Given the description of an element on the screen output the (x, y) to click on. 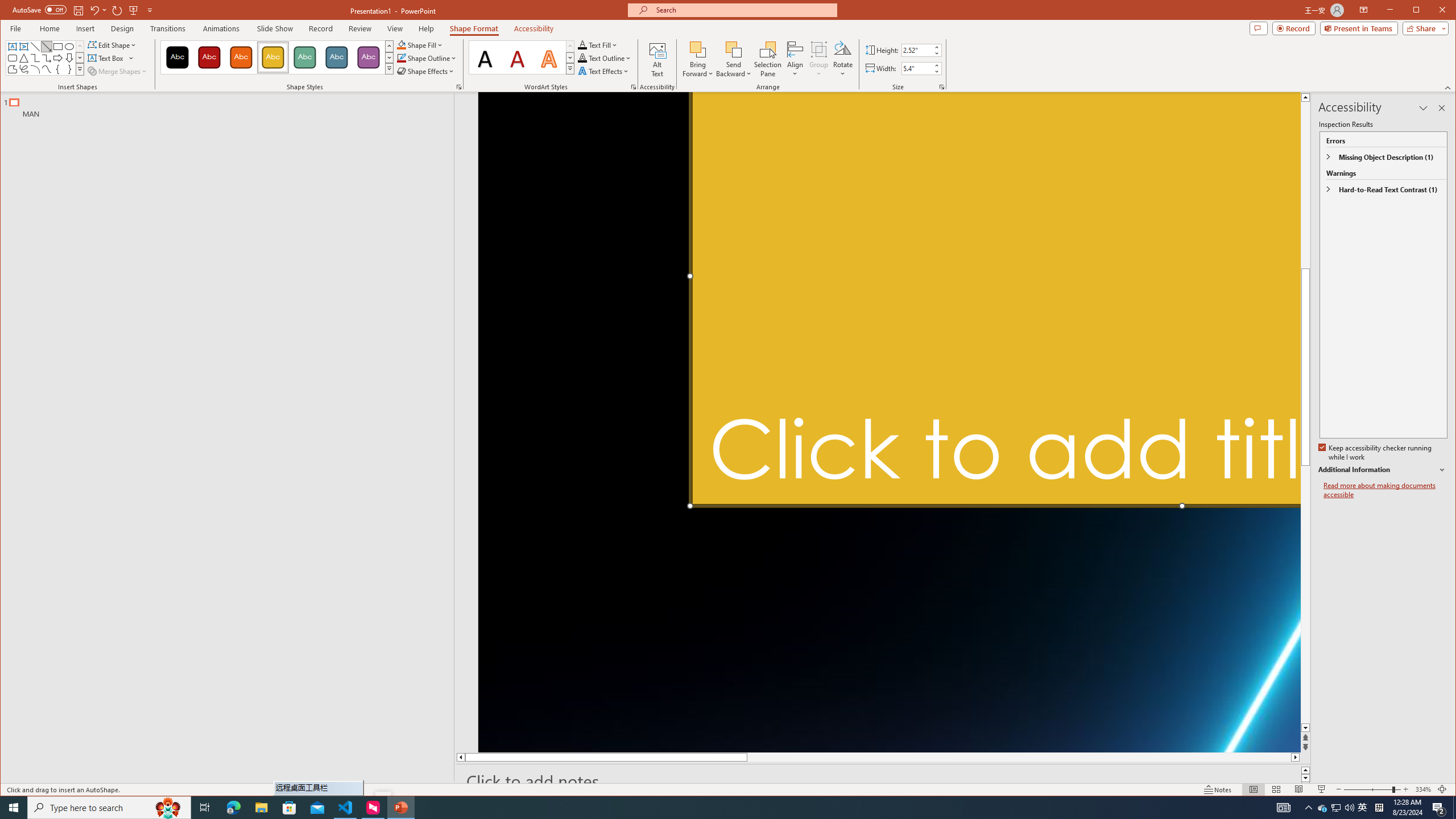
Rotate (842, 59)
Text Fill RGB(0, 0, 0) (582, 44)
Slide Notes (882, 780)
Format Object... (458, 86)
Oval (69, 46)
Colored Fill - Orange, Accent 2 (241, 57)
Isosceles Triangle (23, 57)
Shape Effects (425, 70)
Arrow: Down (69, 57)
Colored Fill - Green, Accent 4 (304, 57)
Neon laser lights aligned to form a triangle (889, 421)
Quick Styles (570, 68)
Colored Fill - Dark Red, Accent 1 (209, 57)
